Given the description of an element on the screen output the (x, y) to click on. 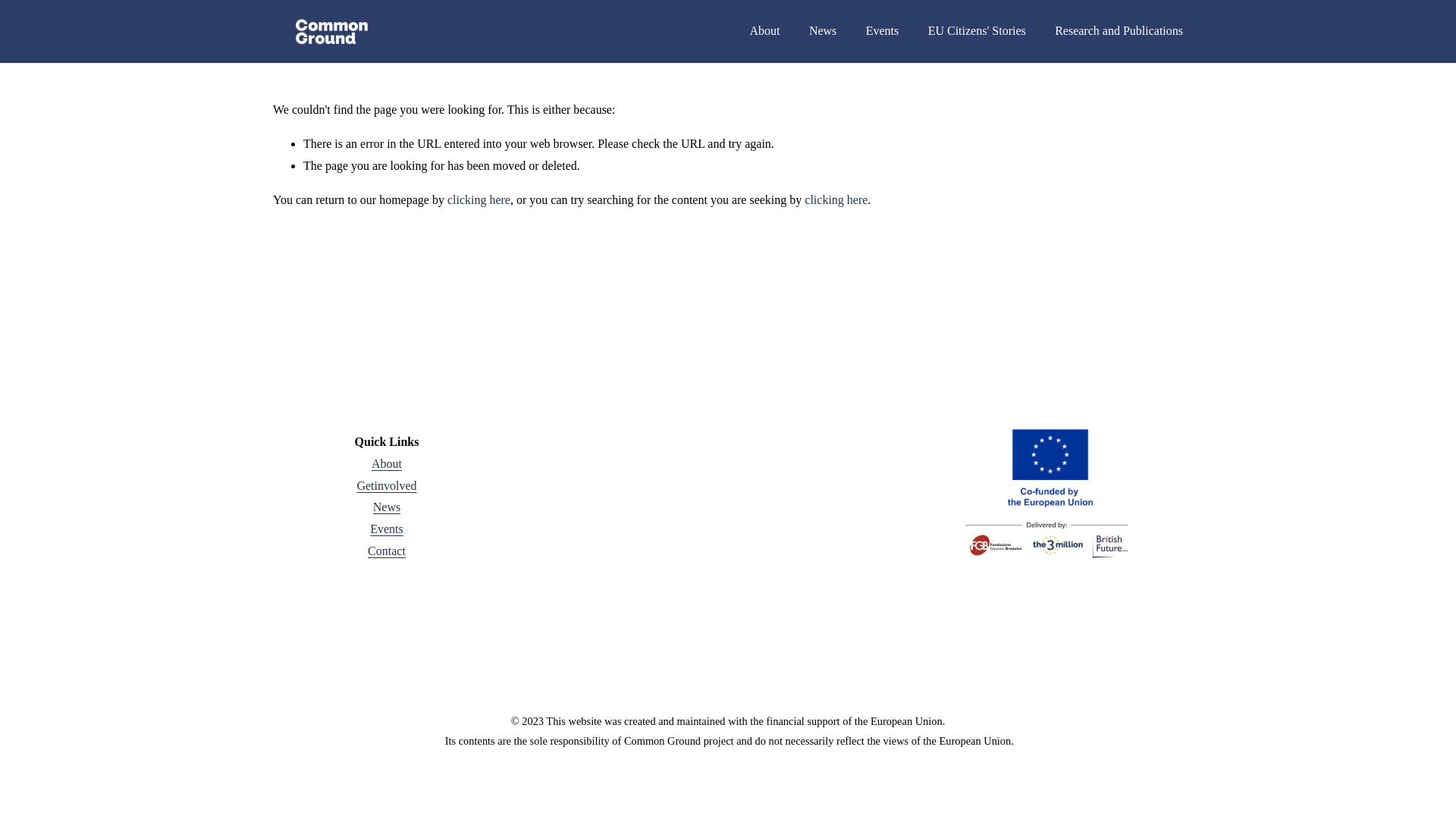
EU Citizens' Stories (977, 30)
Events (386, 529)
Events (882, 30)
About (386, 464)
involved (395, 486)
Research and Publications (1118, 30)
News (822, 30)
News (386, 507)
About (764, 30)
clicking here (478, 199)
